Given the description of an element on the screen output the (x, y) to click on. 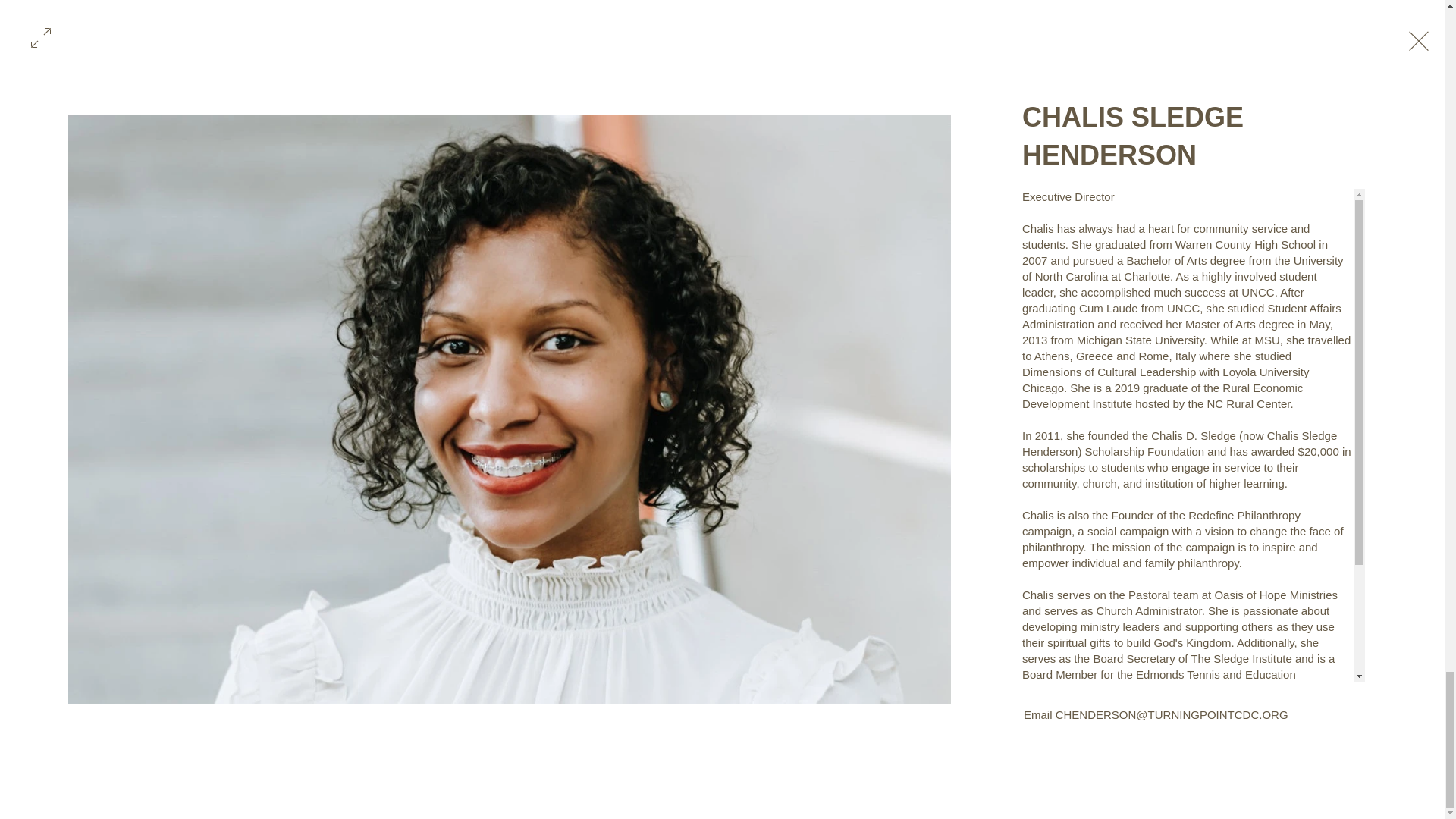
GIVE A GIFT (674, 584)
